Given the description of an element on the screen output the (x, y) to click on. 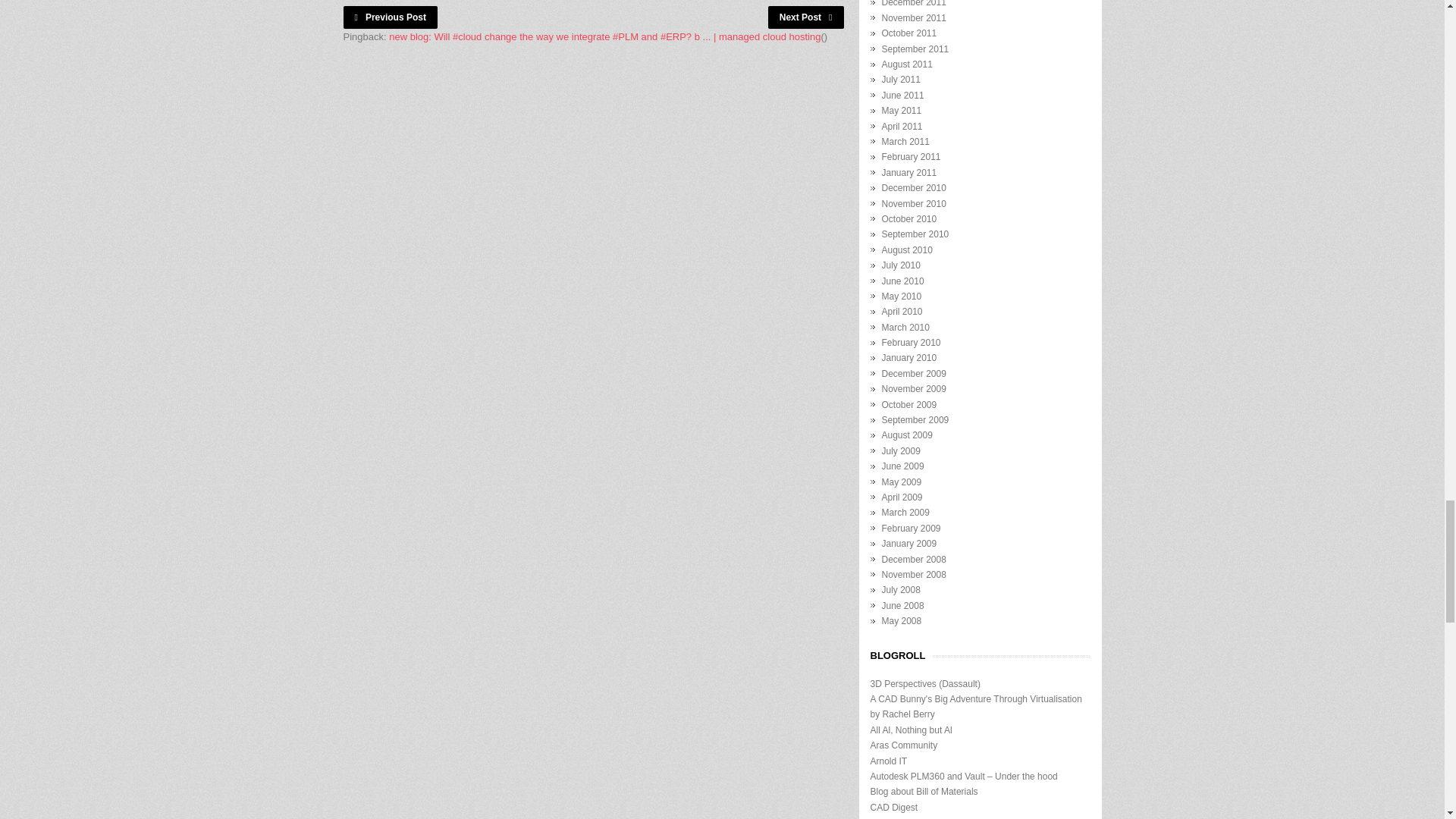
Previous Post (389, 16)
